Given the description of an element on the screen output the (x, y) to click on. 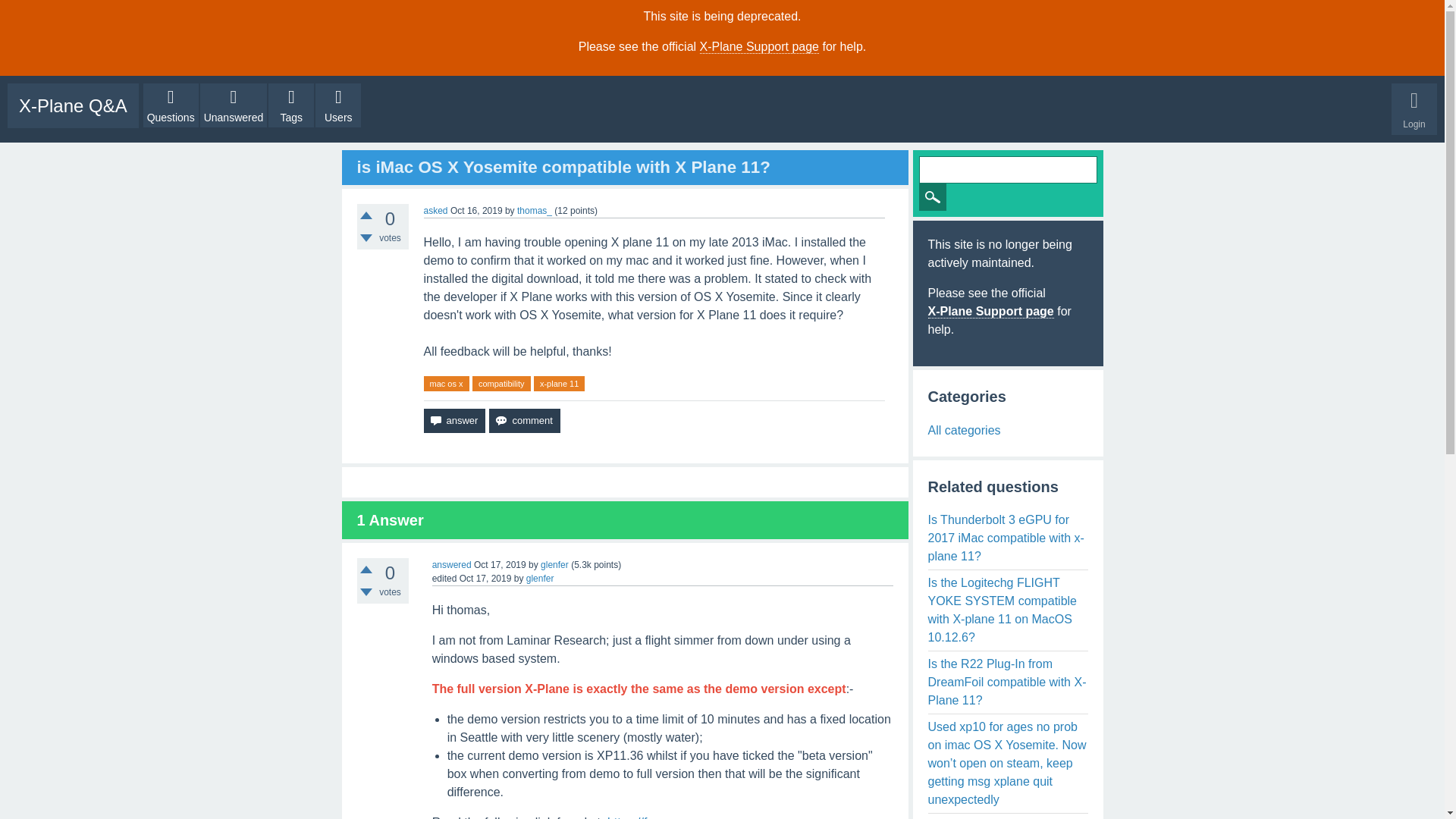
Click to vote up (365, 569)
Search (932, 196)
answer (453, 420)
Answer this question (453, 420)
x-plane 11 (559, 383)
Click to vote down (365, 237)
Users (338, 105)
Add a comment on this question (524, 420)
mac os x (445, 383)
Click to vote up (365, 215)
comment (524, 420)
is iMac OS X Yosemite compatible with X Plane 11? (563, 167)
Unanswered (233, 105)
compatibility (501, 383)
glenfer (554, 564)
